Given the description of an element on the screen output the (x, y) to click on. 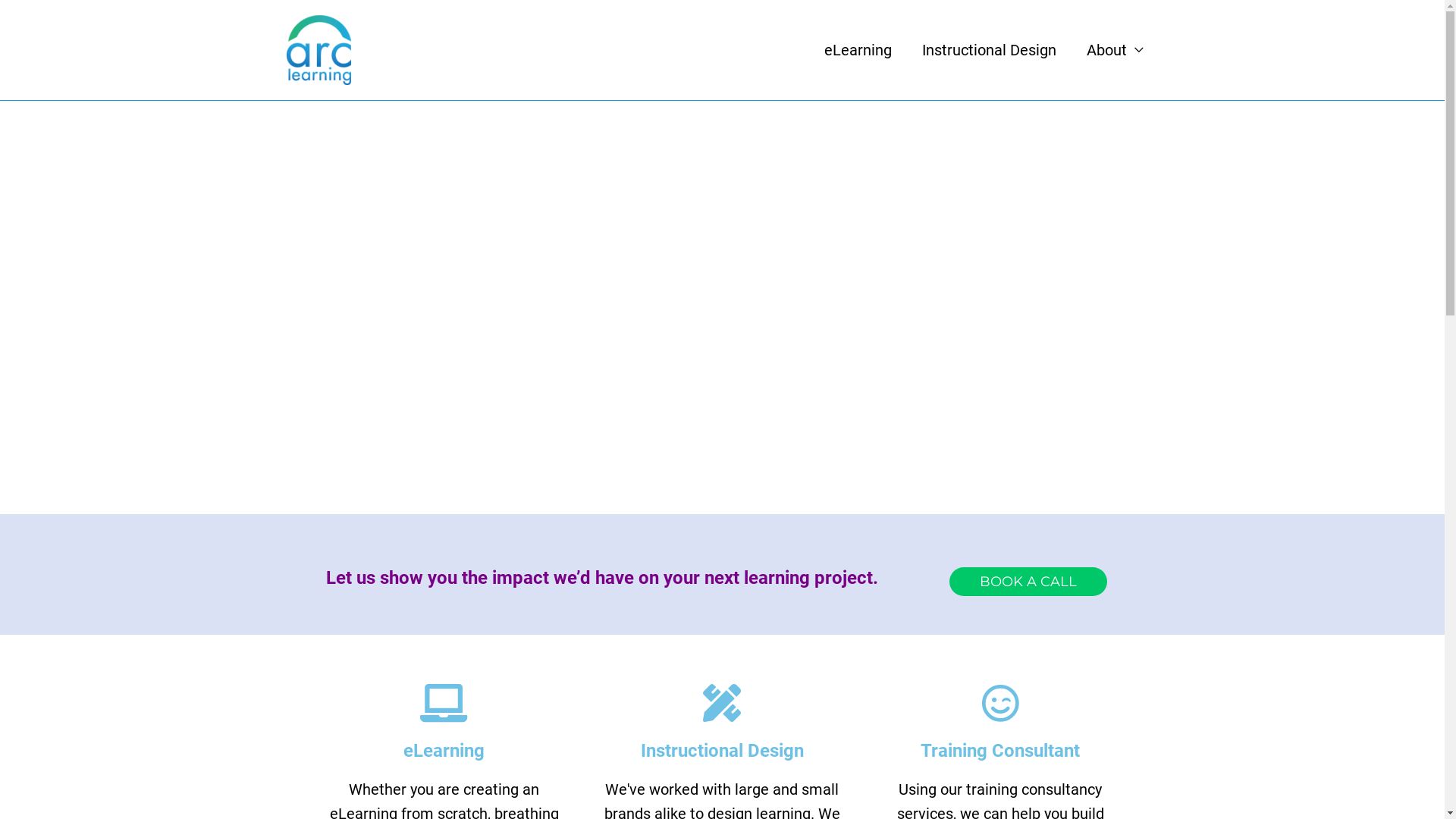
eLearning Element type: text (857, 50)
Instructional Design Element type: text (988, 50)
BOOK A CALL Element type: text (1028, 581)
About Element type: text (1113, 50)
